Given the description of an element on the screen output the (x, y) to click on. 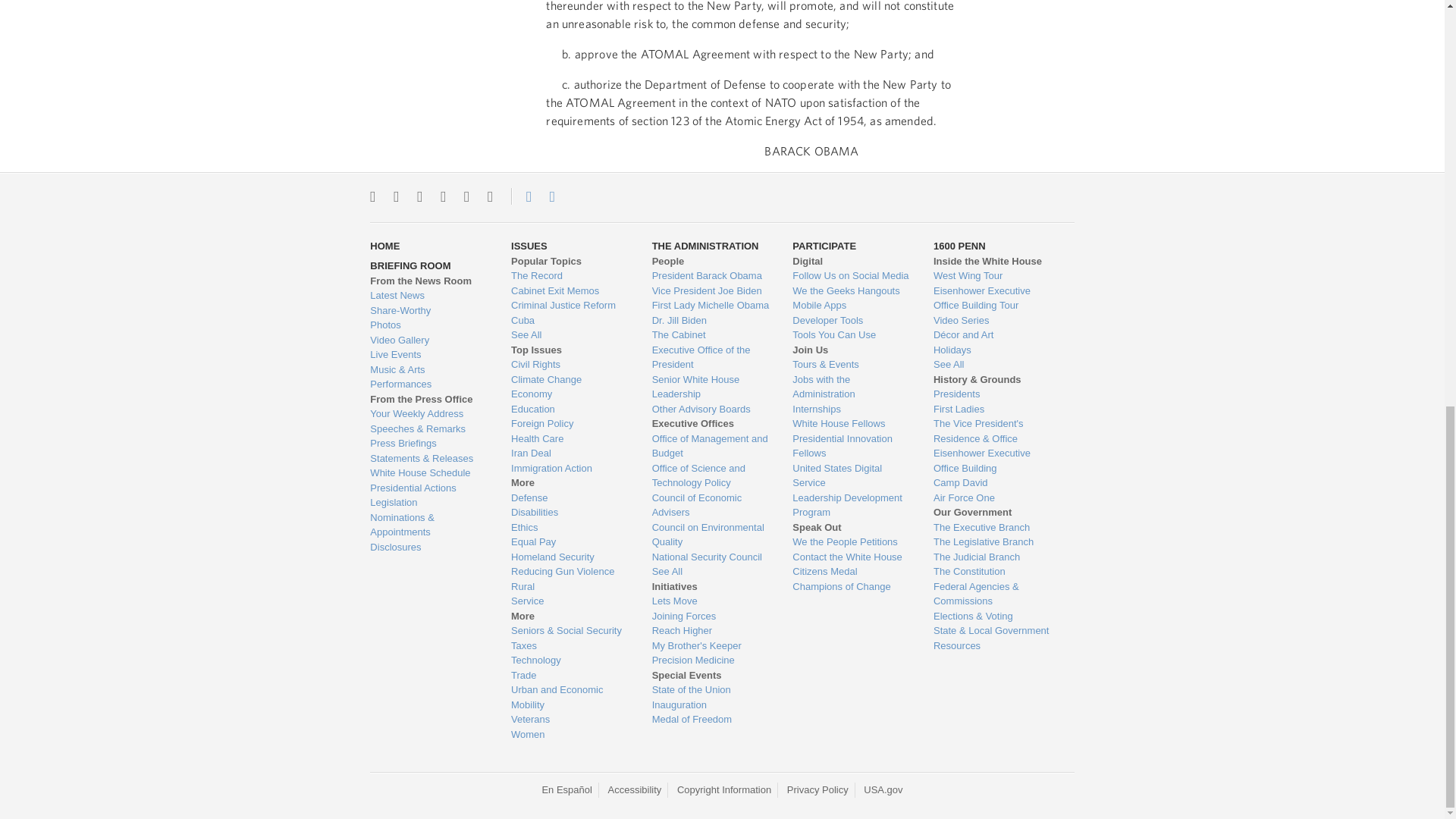
Watch behind-the-scenes videos and more (428, 340)
Contact the Whitehouse. (521, 196)
Check out the most popular infographics and videos (428, 310)
View the photo of the day and other galleries (428, 324)
Read the latest blog posts from 1600 Pennsylvania Ave (428, 295)
